Given the description of an element on the screen output the (x, y) to click on. 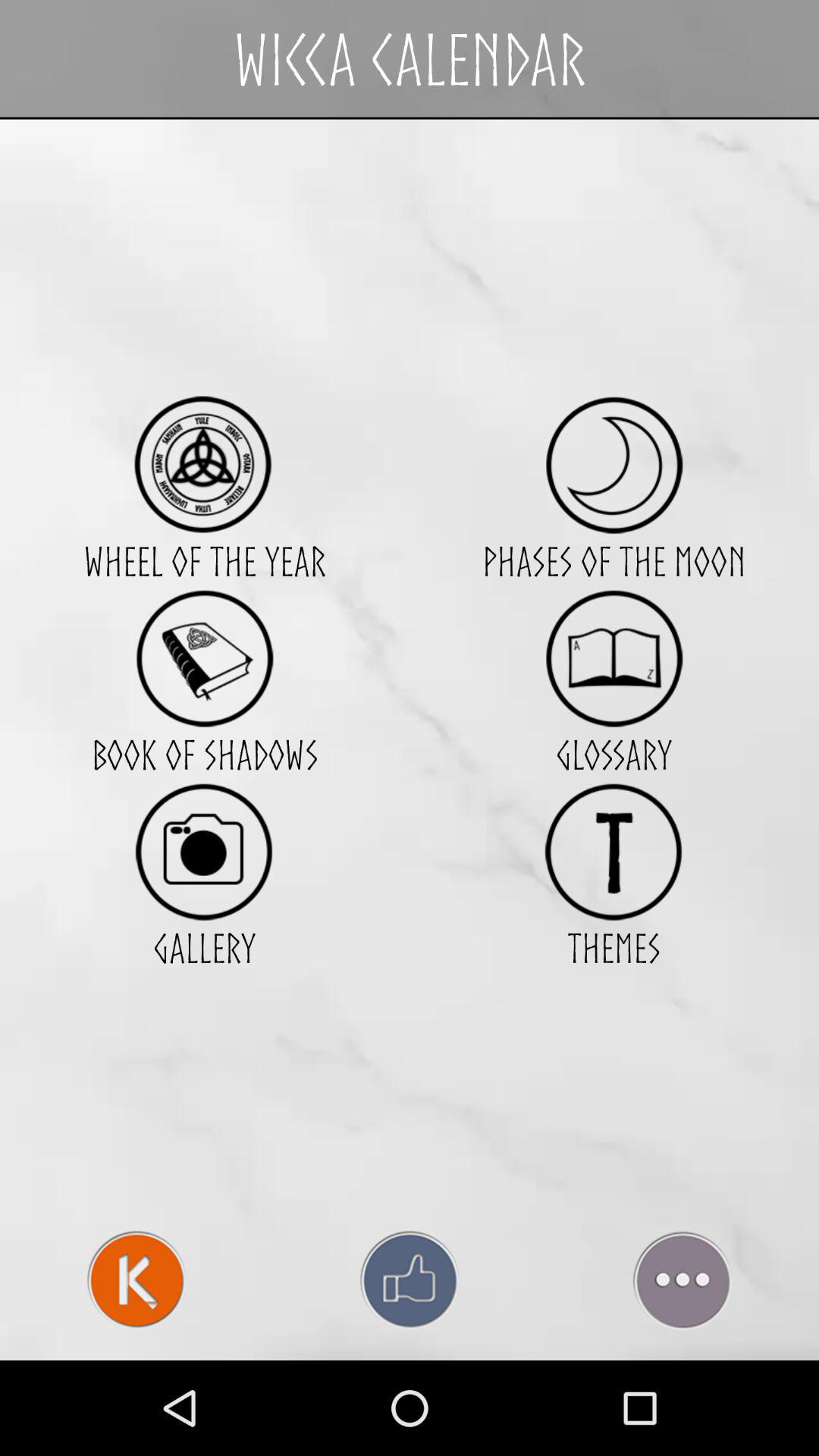
access gallery photos (204, 851)
